Given the description of an element on the screen output the (x, y) to click on. 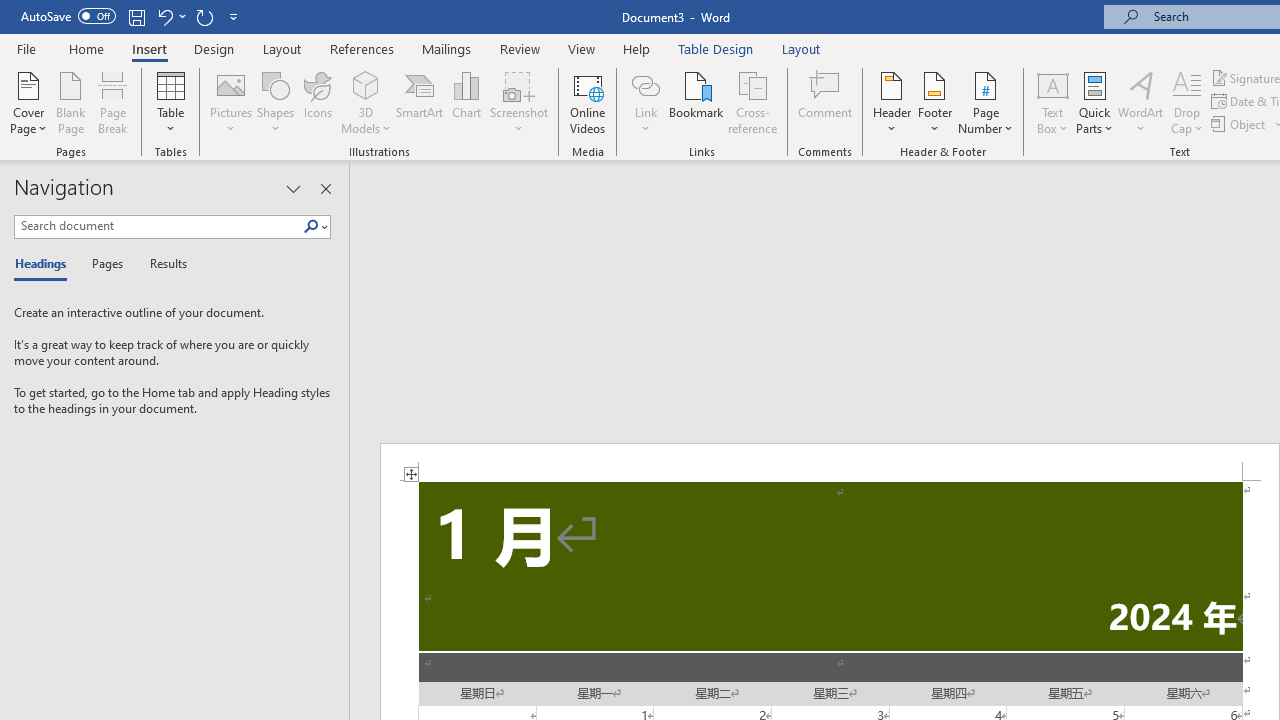
Comment (825, 102)
Text Box (1052, 102)
Undo Increase Indent (170, 15)
3D Models (366, 102)
Online Videos... (588, 102)
Screenshot (518, 102)
Table (170, 102)
